Given the description of an element on the screen output the (x, y) to click on. 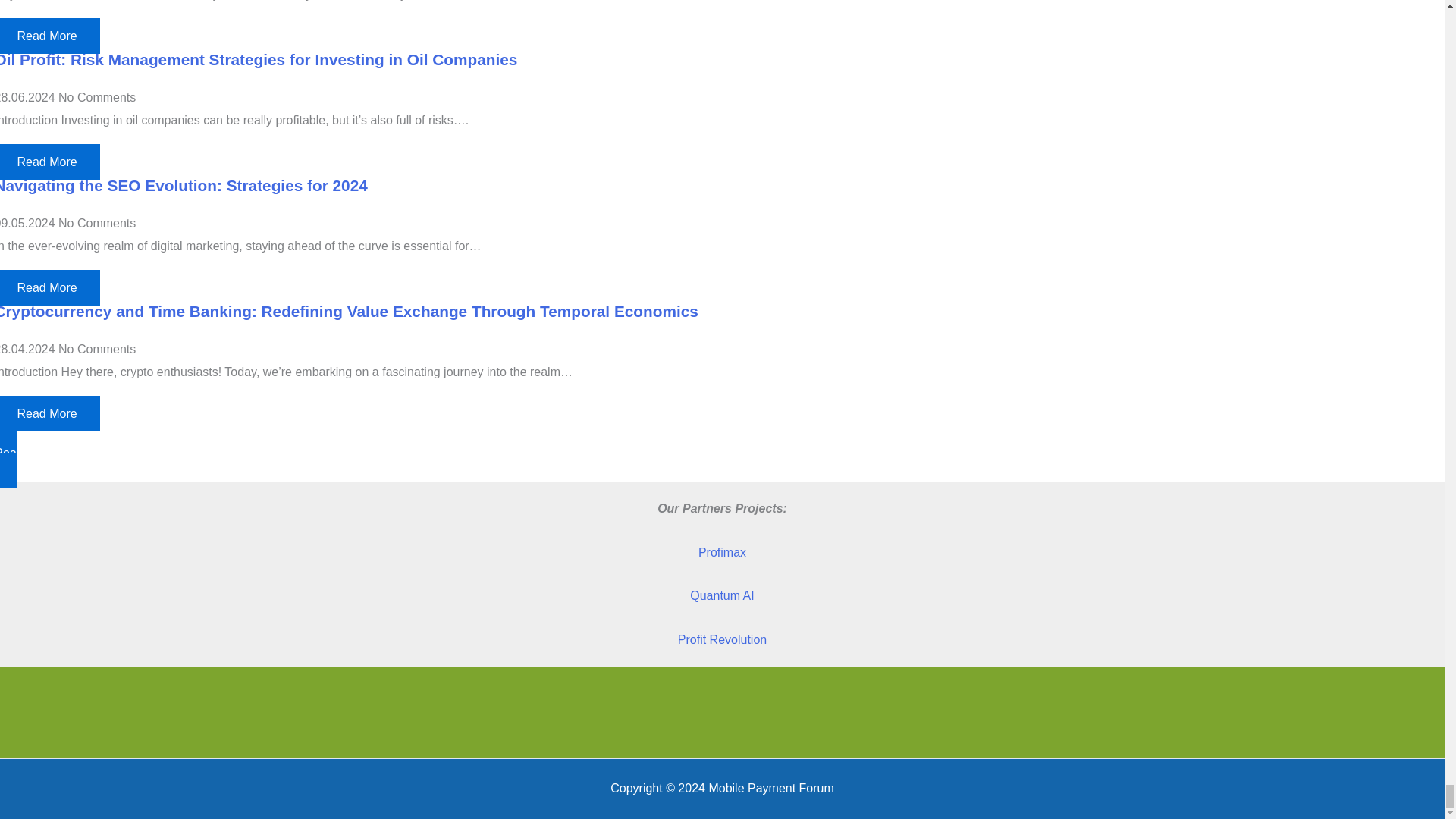
Quantum AI (722, 594)
Profimax (721, 552)
Navigating the SEO Evolution: Strategies for 2024 (183, 185)
Read More (49, 161)
Profit Revolution (722, 639)
Read More (49, 36)
Read More (49, 287)
Read All (725, 453)
Read More (49, 413)
